Given the description of an element on the screen output the (x, y) to click on. 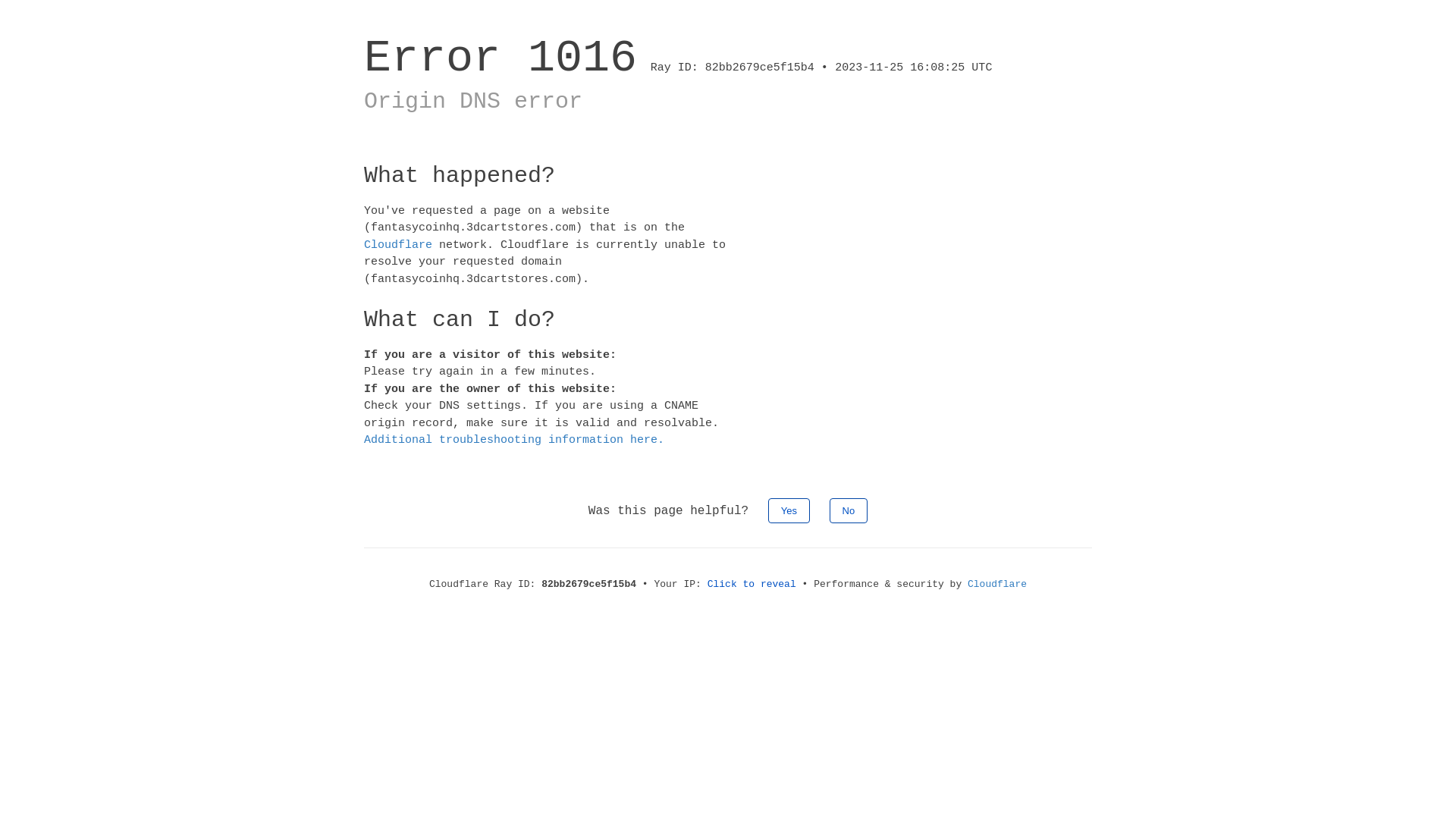
No Element type: text (848, 509)
Cloudflare Element type: text (996, 583)
Click to reveal Element type: text (751, 583)
Additional troubleshooting information here. Element type: text (514, 439)
Cloudflare Element type: text (398, 244)
Yes Element type: text (788, 509)
